Given the description of an element on the screen output the (x, y) to click on. 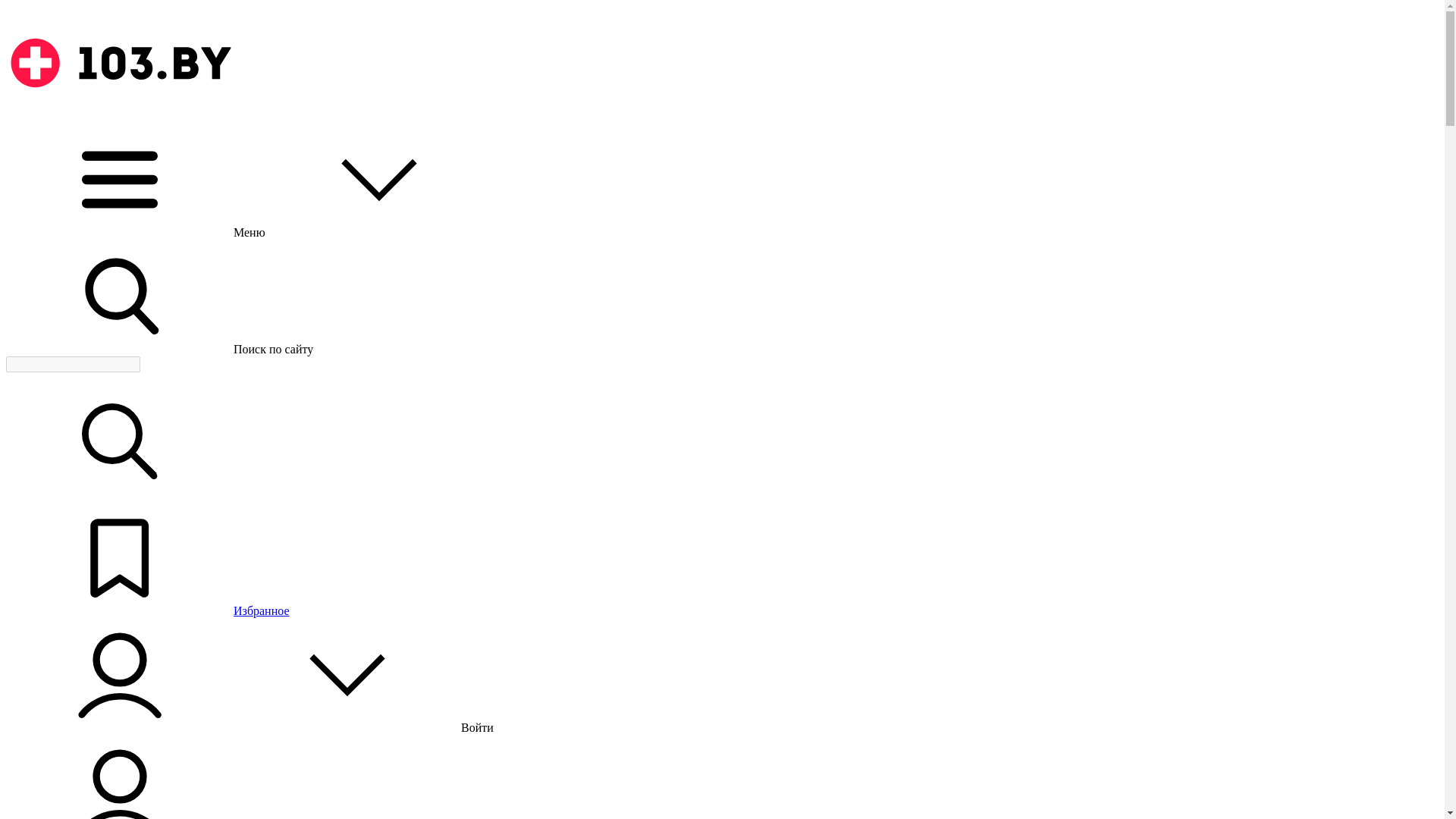
logo Element type: hover (119, 115)
logo Element type: hover (119, 62)
